Given the description of an element on the screen output the (x, y) to click on. 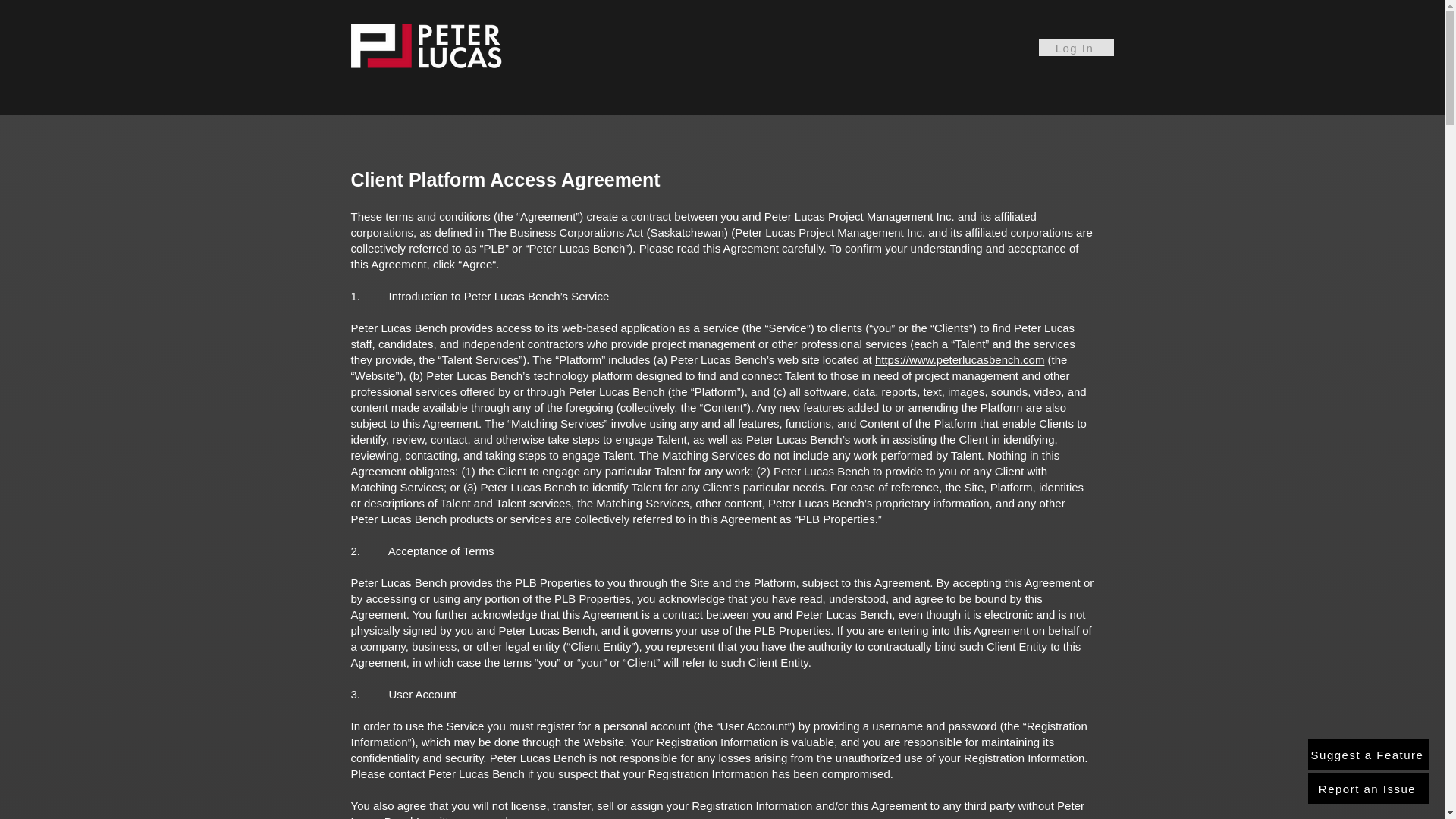
Suggest a Feature (1368, 754)
peter-lucas-new-nopm white.png (426, 47)
Report an Issue (1368, 788)
Log In (1076, 47)
